Given the description of an element on the screen output the (x, y) to click on. 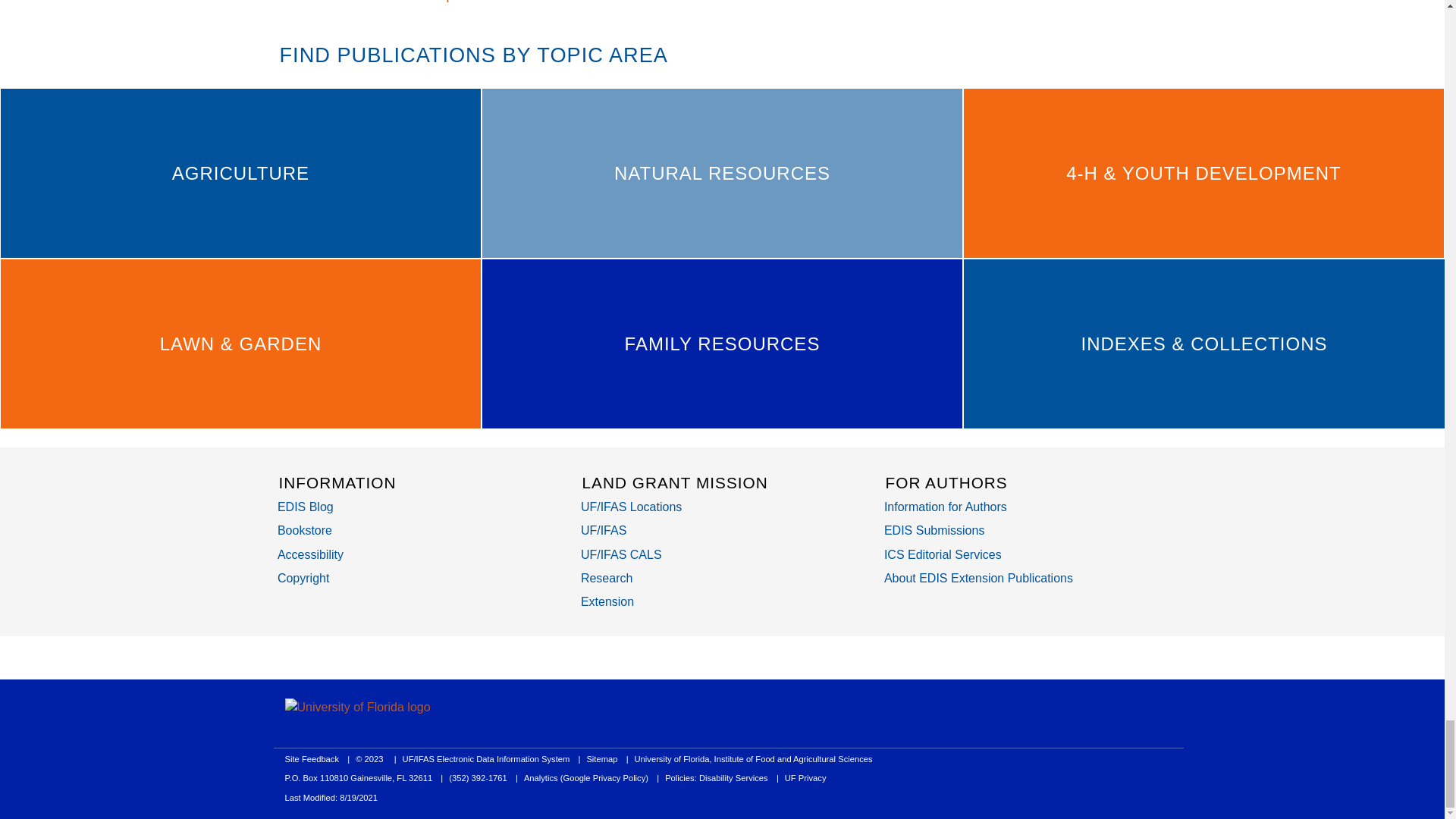
FAMILY RESOURCES (721, 343)
AGRICULTURE (240, 172)
College of Agricultural and Life Sciences (621, 554)
Copyright (303, 577)
EDIS Blog (305, 506)
NATURAL RESOURCES (721, 172)
Accessibility (310, 554)
